Given the description of an element on the screen output the (x, y) to click on. 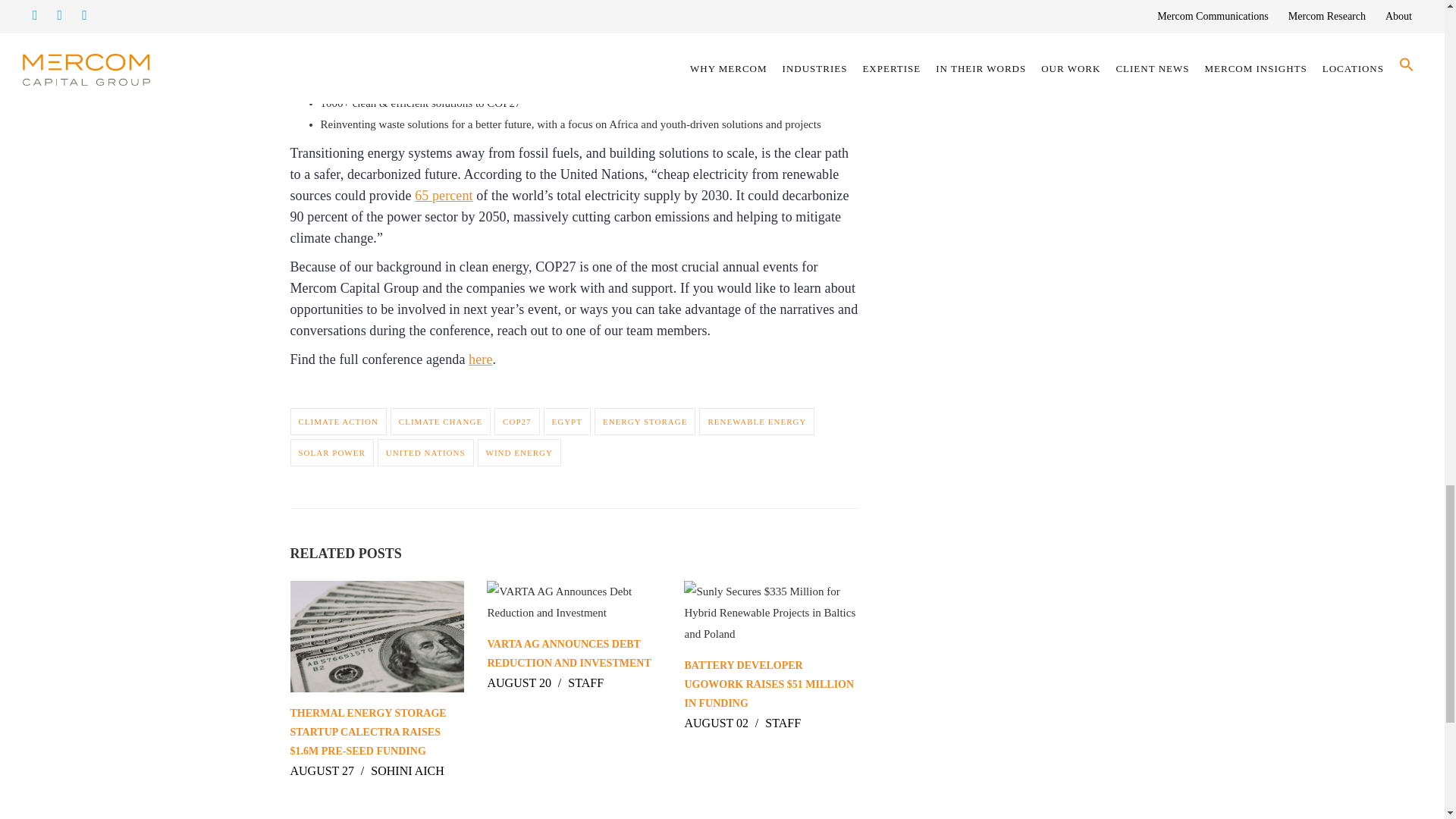
CLIMATE CHANGE (440, 420)
Posts by Staff (782, 722)
ENERGY STORAGE (644, 420)
Posts by Staff (585, 682)
CLIMATE ACTION (337, 420)
EGYPT (567, 420)
here (480, 359)
COP27 (516, 420)
SOLAR POWER (330, 452)
Posts by Sohini Aich (407, 770)
